Given the description of an element on the screen output the (x, y) to click on. 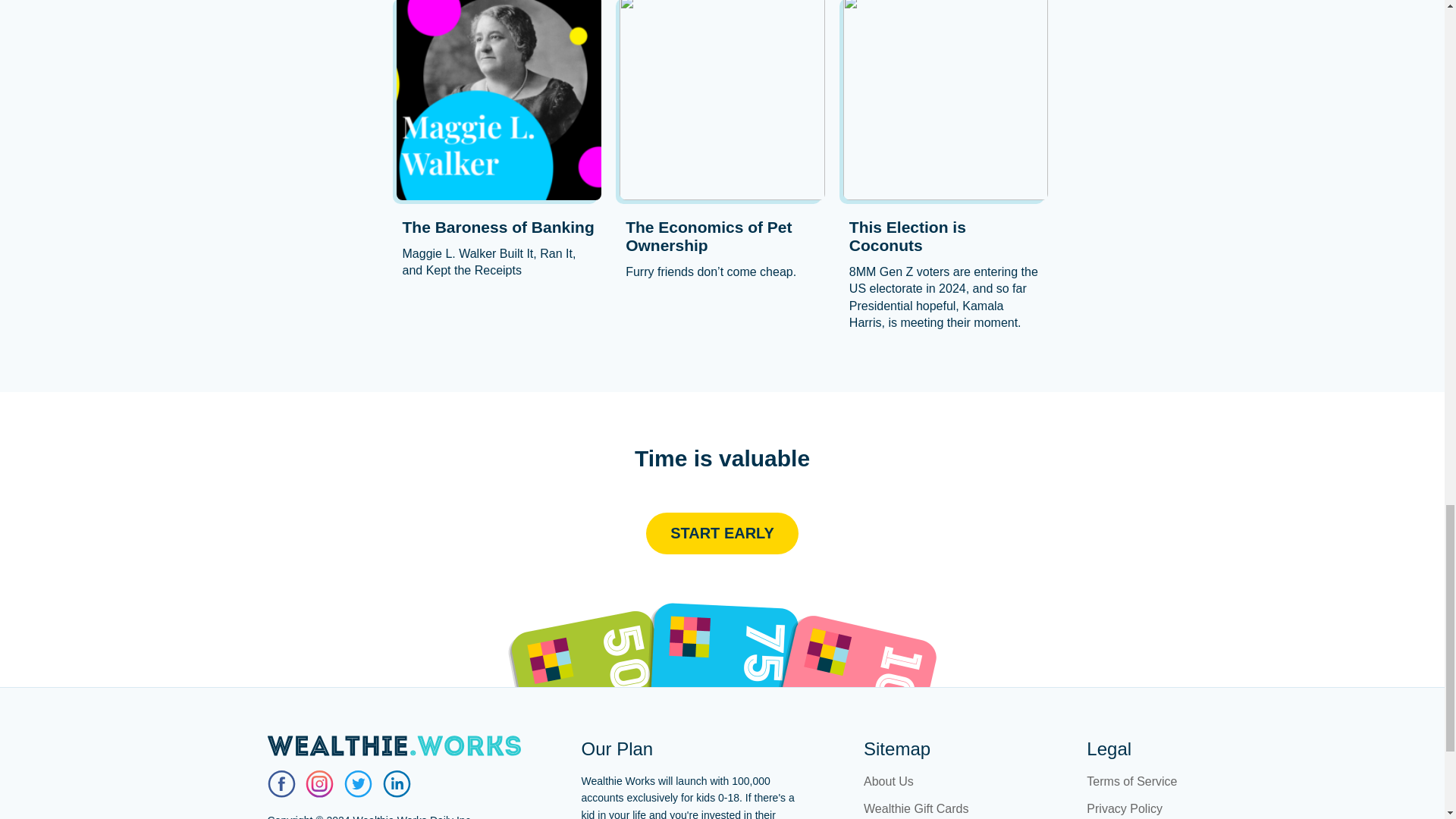
The Economics of Pet Ownership (722, 236)
This Election is Coconuts (945, 236)
The Baroness of Banking (498, 227)
START EARLY (721, 533)
